Given the description of an element on the screen output the (x, y) to click on. 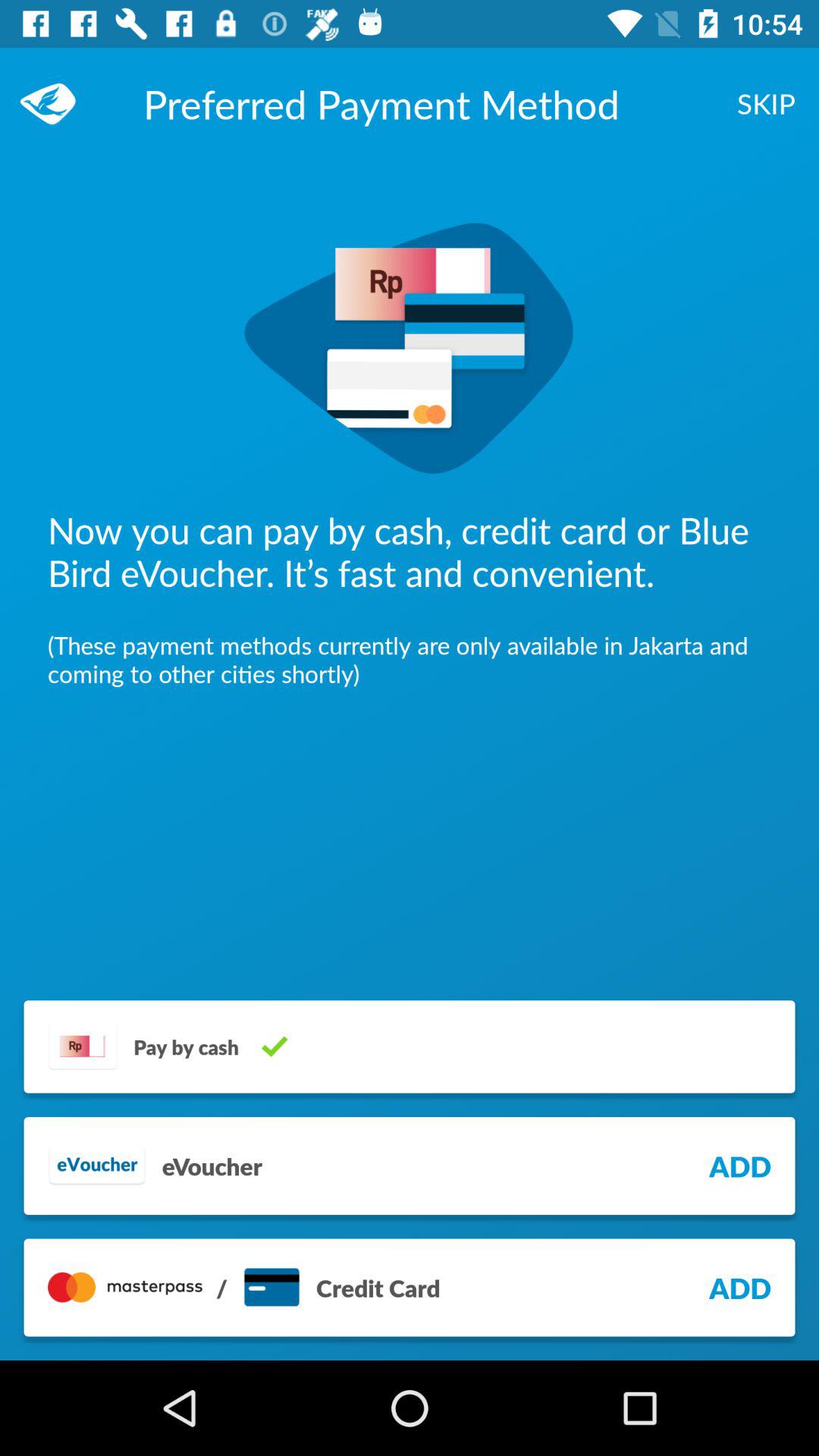
jump until the skip icon (766, 103)
